Given the description of an element on the screen output the (x, y) to click on. 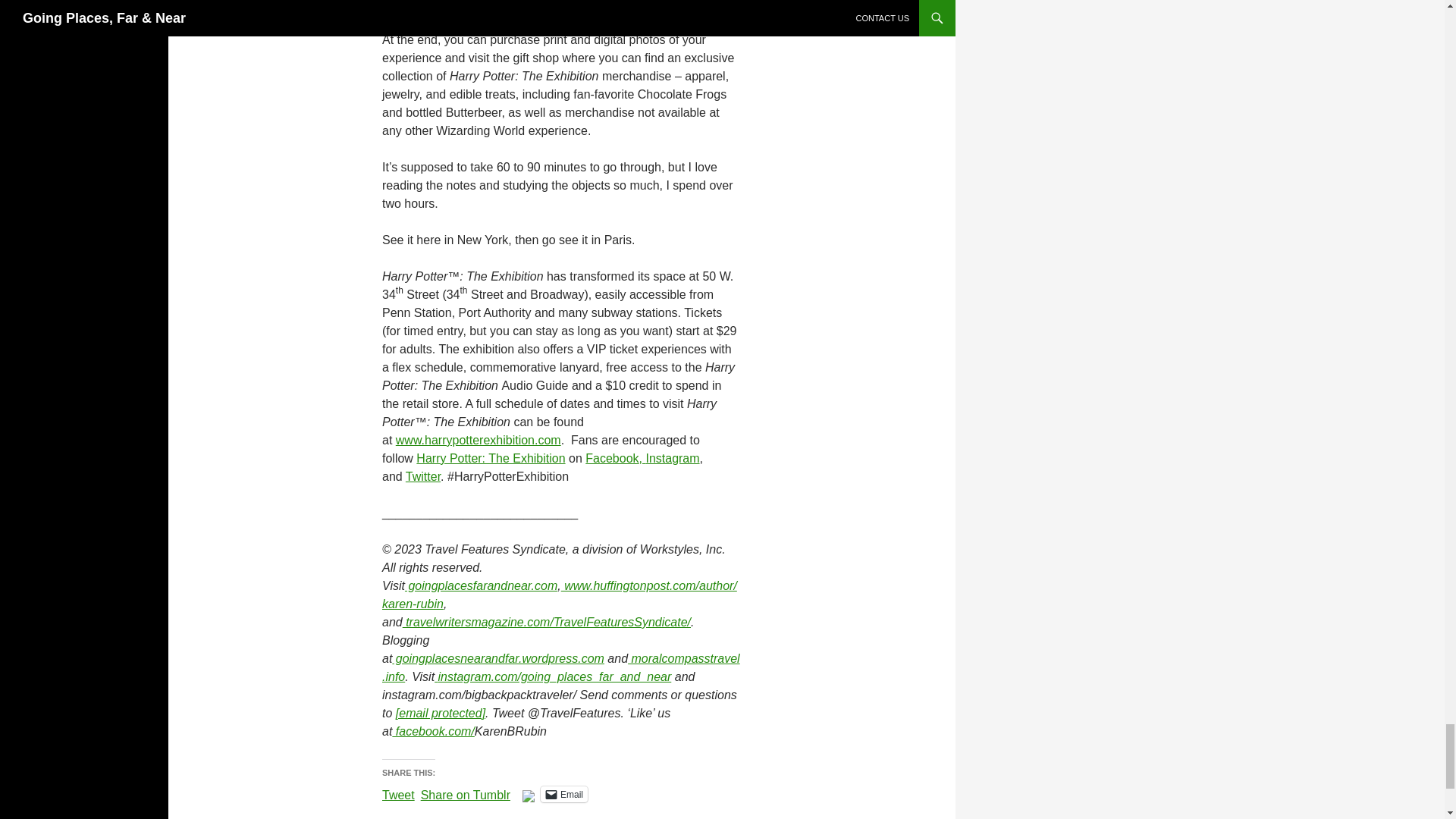
Twitter (423, 476)
Harry Potter: The Exhibition (490, 458)
Share on Tumblr (465, 793)
www.harrypotterexhibition.com (478, 440)
 goingplacesfarandnear.com (480, 585)
Click to email a link to a friend (564, 794)
Instagram (671, 458)
 moralcompasstravel.info (560, 667)
 goingplacesnearandfar.wordpress.com (497, 658)
Facebook (612, 458)
